Given the description of an element on the screen output the (x, y) to click on. 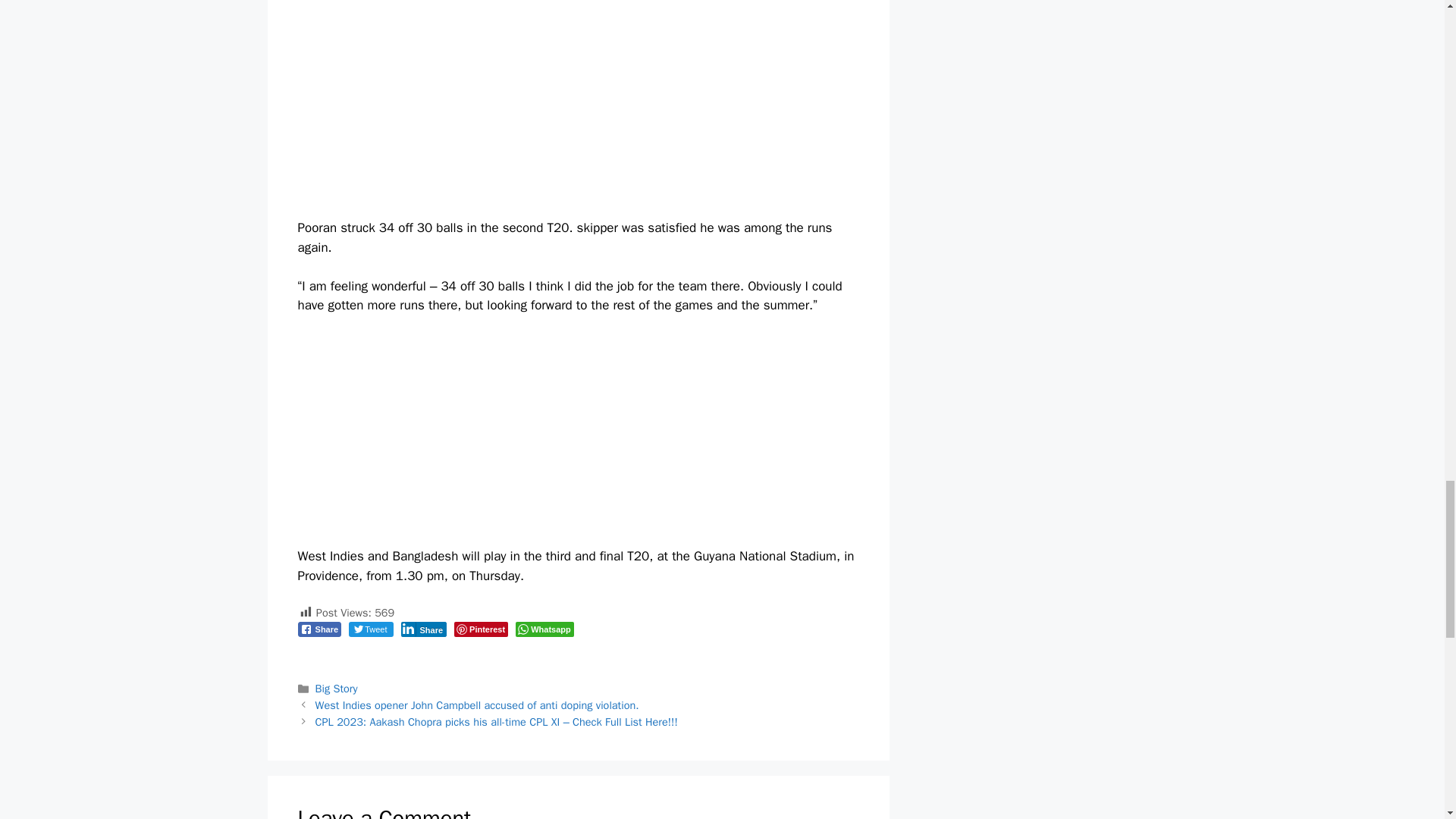
Share (423, 629)
Tweet (371, 629)
Share (318, 629)
Big Story (336, 688)
Whatsapp (544, 629)
Advertisement (578, 440)
Pinterest (481, 629)
Next (496, 721)
Previous (477, 704)
